Given the description of an element on the screen output the (x, y) to click on. 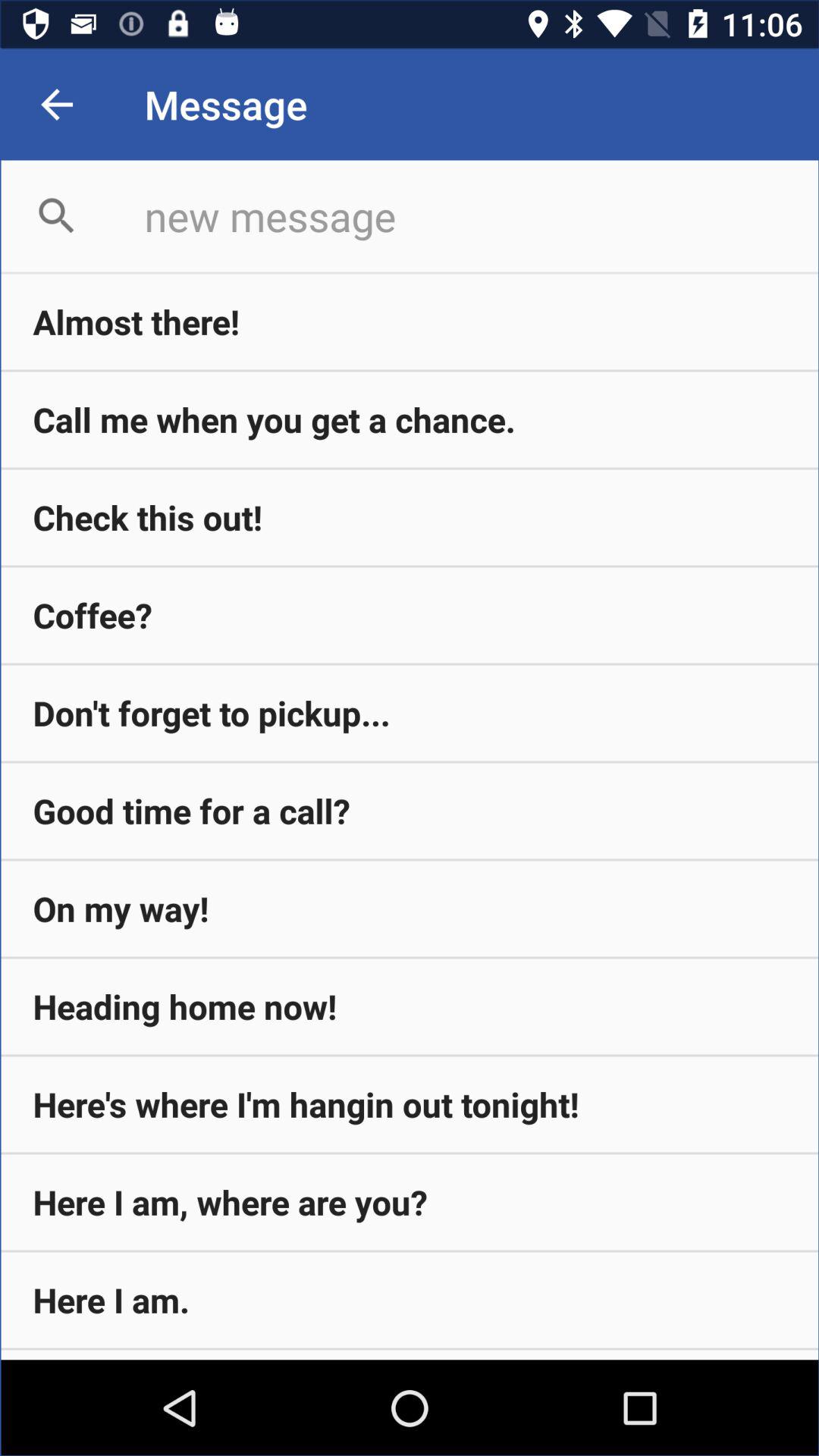
tap item below the check this out! icon (409, 615)
